Given the description of an element on the screen output the (x, y) to click on. 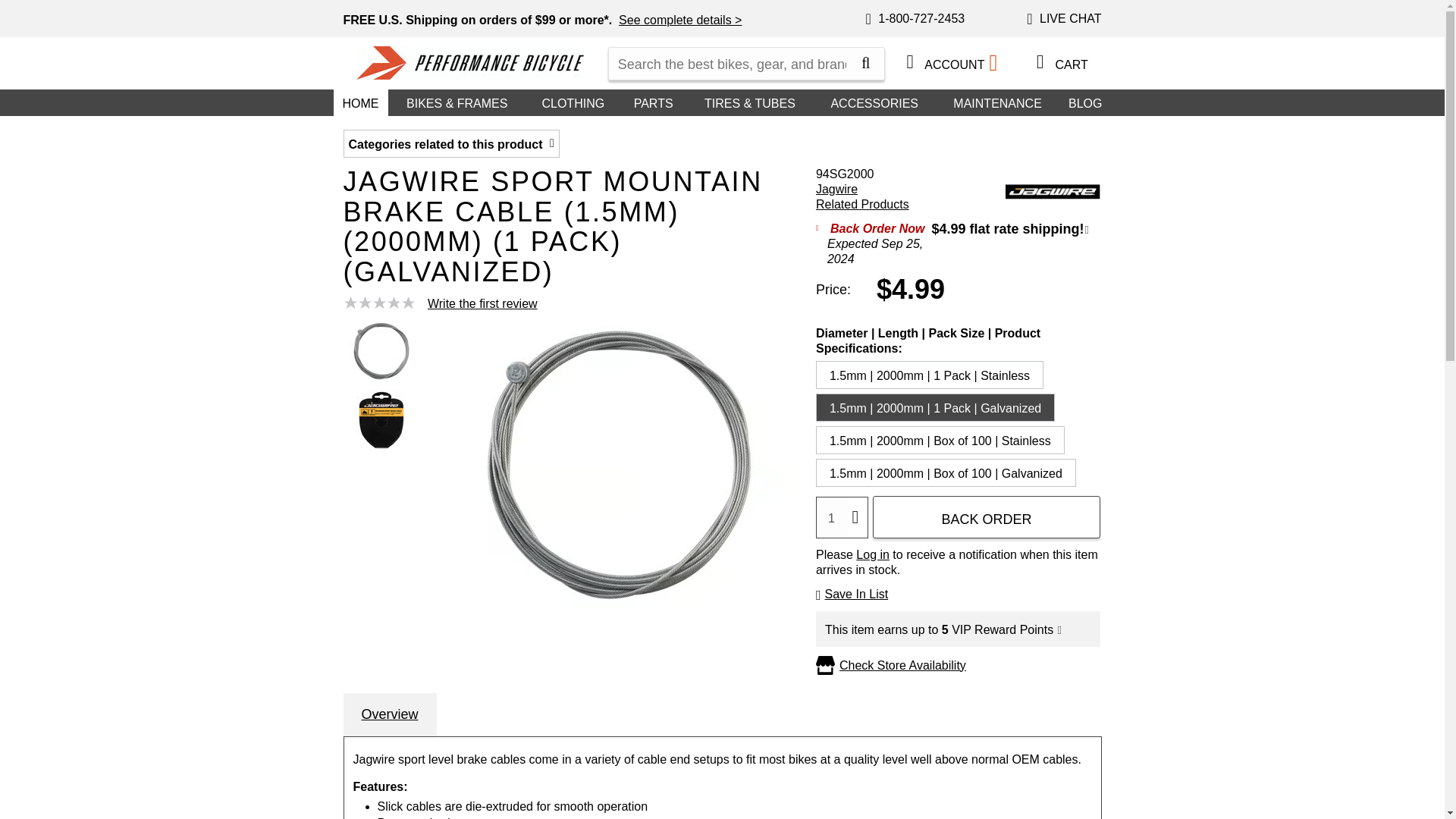
Click to Check Store Availability (903, 665)
CLOTHING (572, 102)
LIVE CHAT (1063, 19)
CART (1057, 62)
ACCOUNT (950, 62)
My Account (909, 61)
Performance Bicycle (469, 62)
HOME (360, 102)
1-800-727-2453 (915, 19)
